Given the description of an element on the screen output the (x, y) to click on. 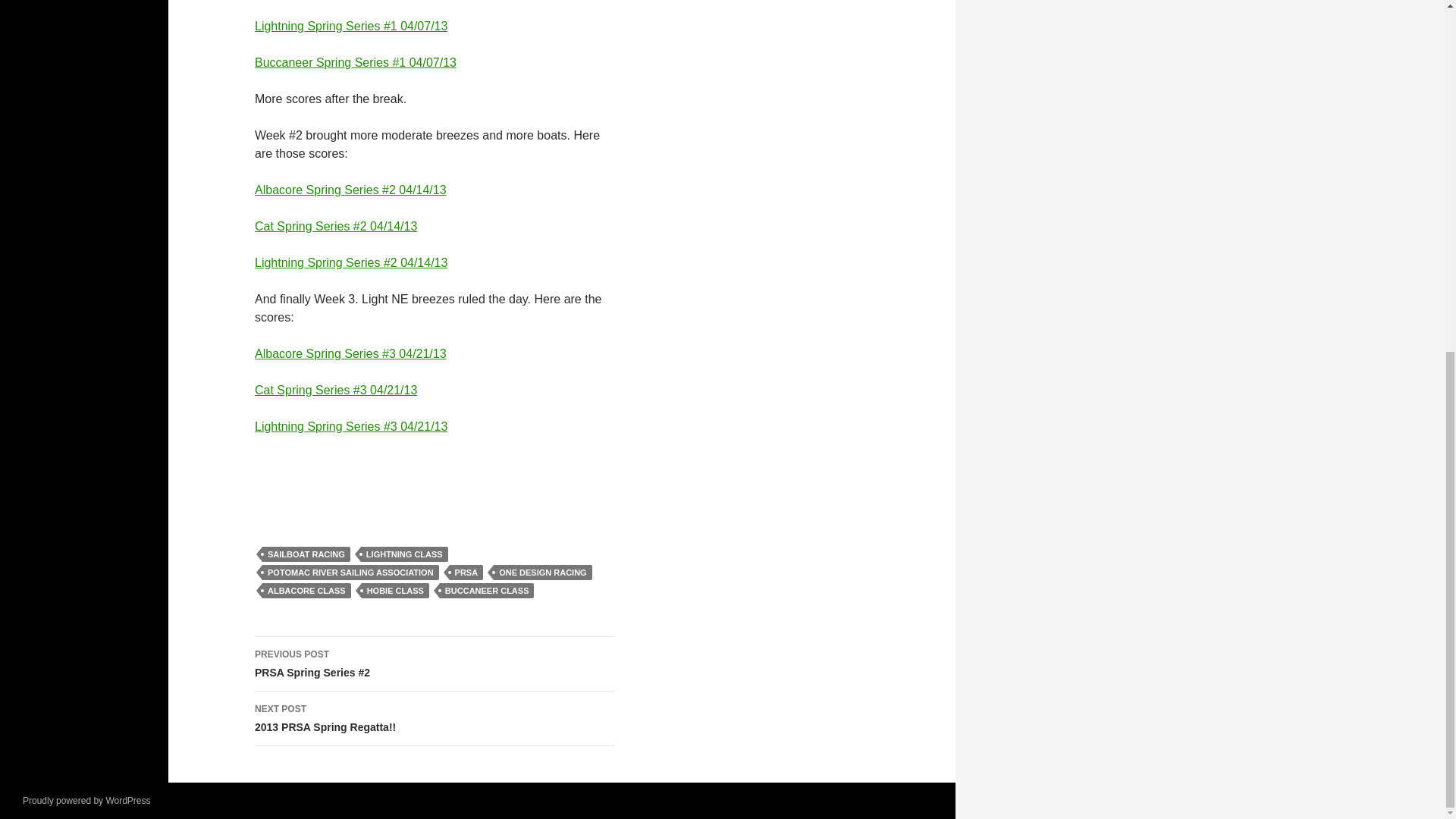
LIGHTNING CLASS (404, 554)
POTOMAC RIVER SAILING ASSOCIATION (350, 572)
SAILBOAT RACING (306, 554)
